Given the description of an element on the screen output the (x, y) to click on. 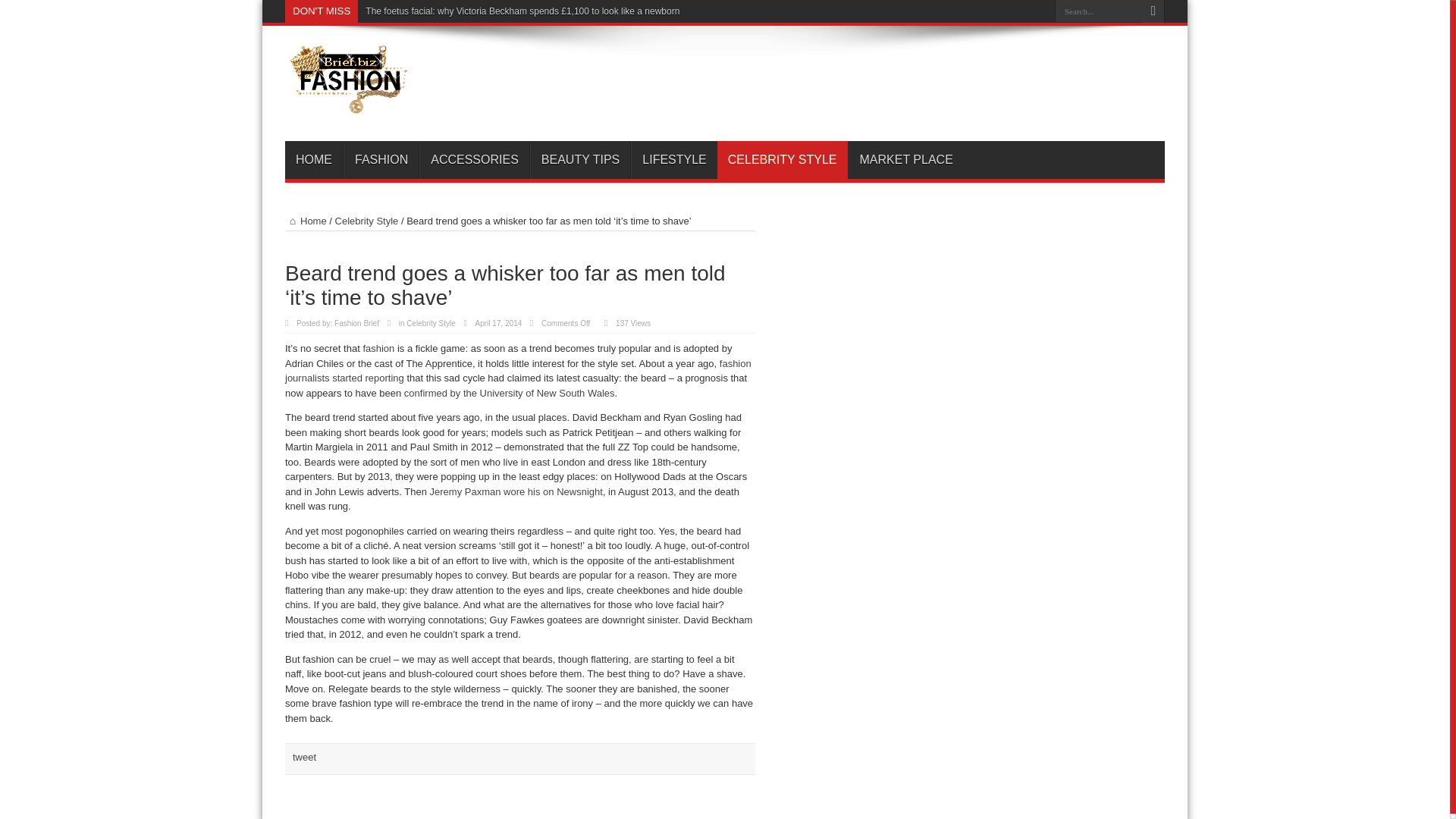
Celebrity Style (430, 323)
fashion (378, 348)
MARKET PLACE (905, 159)
Search... (1097, 11)
FASHION (381, 159)
Celebrity Style (366, 220)
tweet (303, 756)
Search (1152, 11)
Fashion Brief (349, 103)
Jeremy Paxman wore his on Newsnight (515, 490)
